Given the description of an element on the screen output the (x, y) to click on. 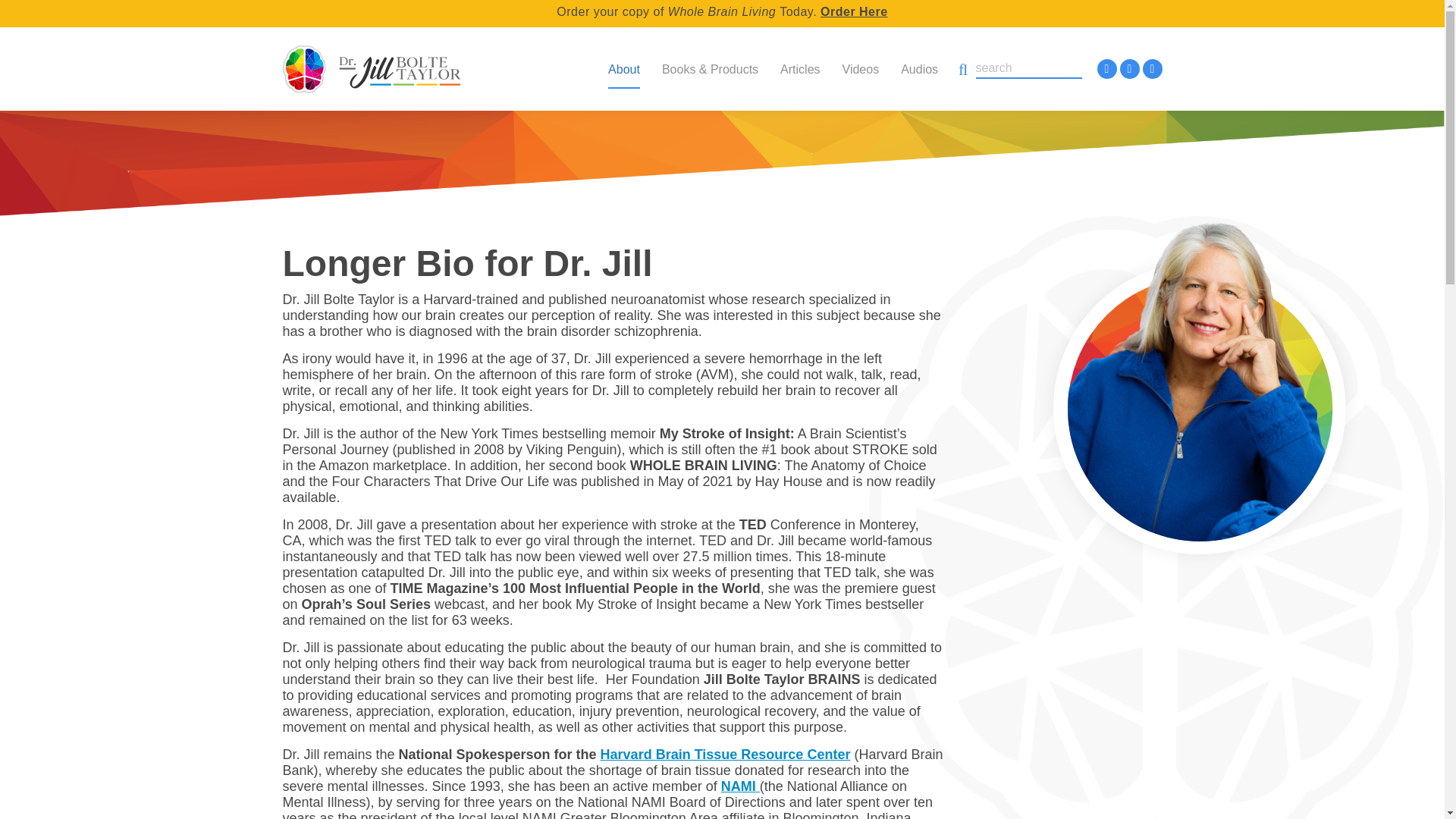
Audios (919, 63)
Instagram page opens in new window (1128, 68)
Facebook page opens in new window (1106, 68)
Facebook page opens in new window (1106, 68)
Instagram page opens in new window (1128, 68)
Order Here (854, 11)
About (623, 63)
Videos (860, 63)
YouTube page opens in new window (1151, 68)
Articles (799, 63)
YouTube page opens in new window (1151, 68)
